Given the description of an element on the screen output the (x, y) to click on. 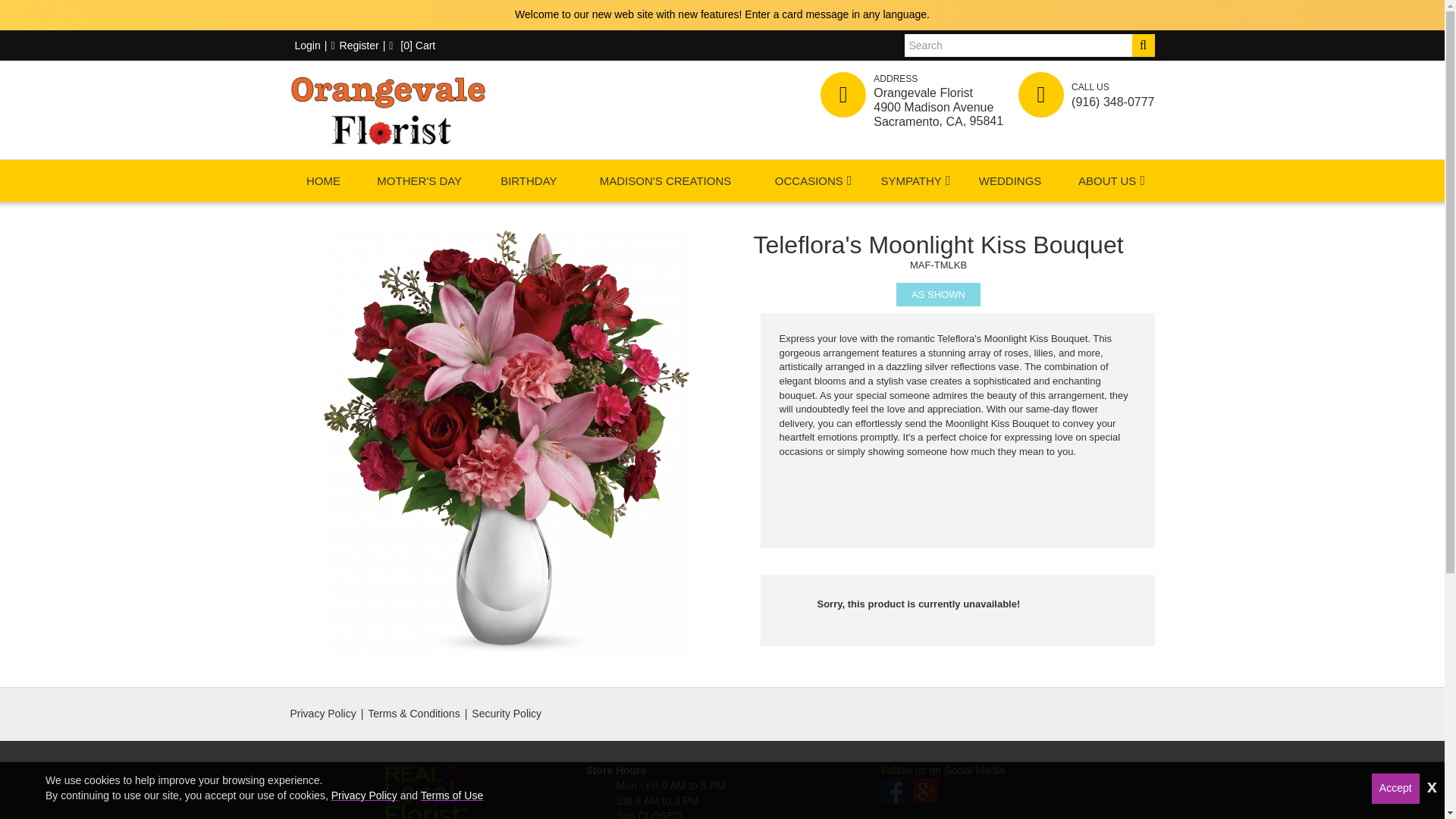
MOTHER'S DAY (418, 180)
OCCASIONS (808, 180)
BIRTHDAY (528, 180)
HOME (322, 180)
Register (354, 45)
MADISON'S CREATIONS (665, 180)
Login (304, 45)
